Given the description of an element on the screen output the (x, y) to click on. 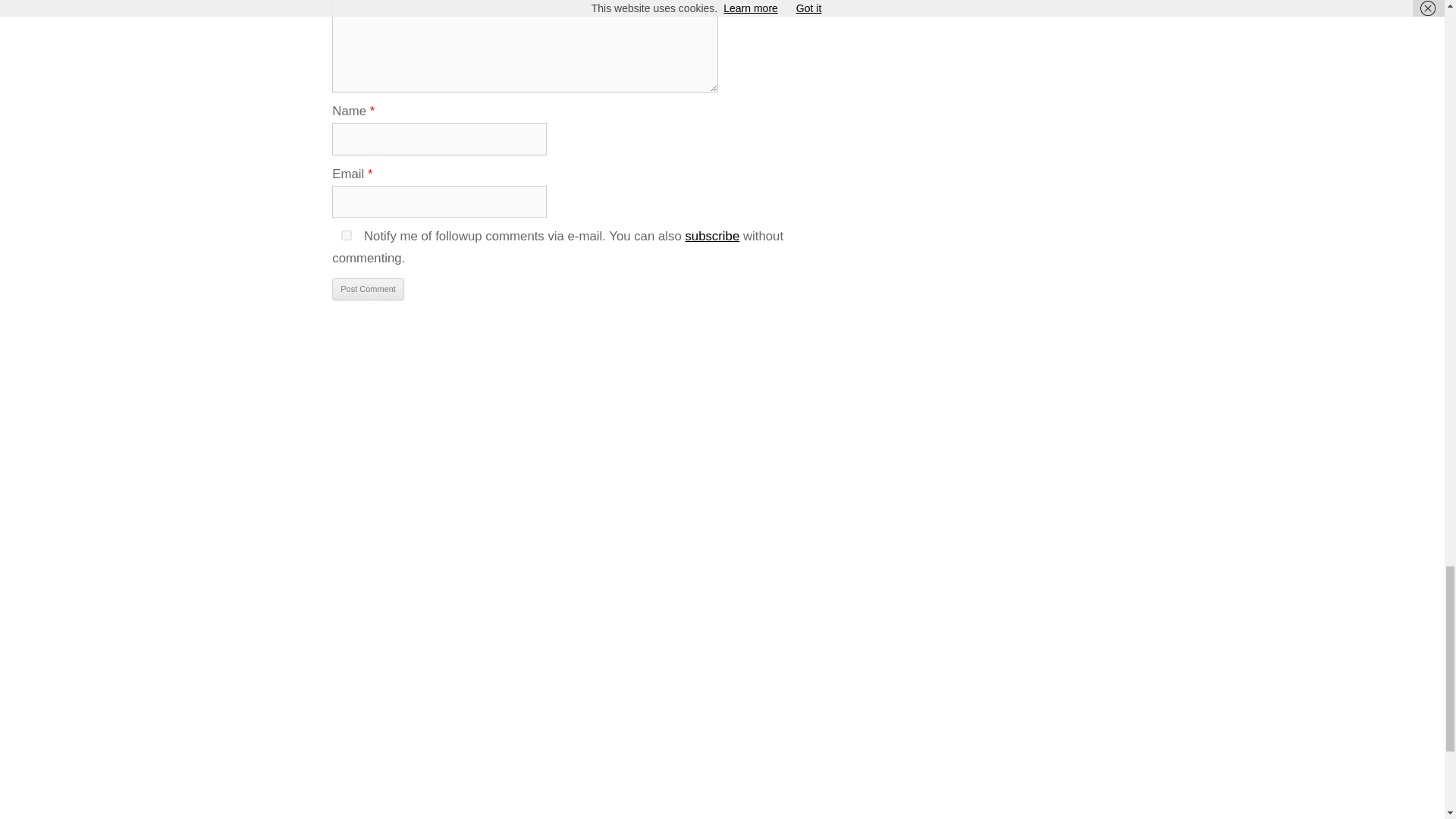
yes (346, 235)
subscribe (711, 236)
Post Comment (367, 289)
Post Comment (367, 289)
